Given the description of an element on the screen output the (x, y) to click on. 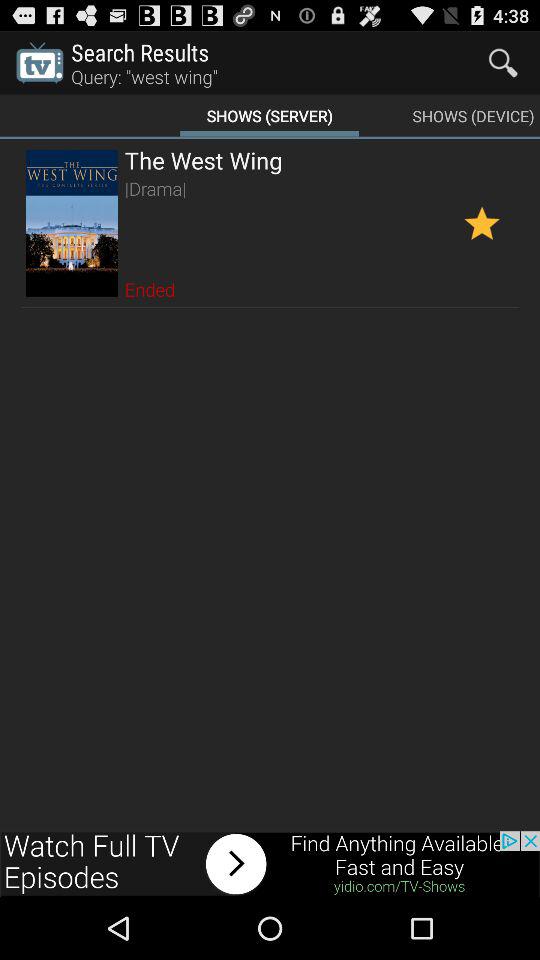
open advertisement (270, 864)
